Given the description of an element on the screen output the (x, y) to click on. 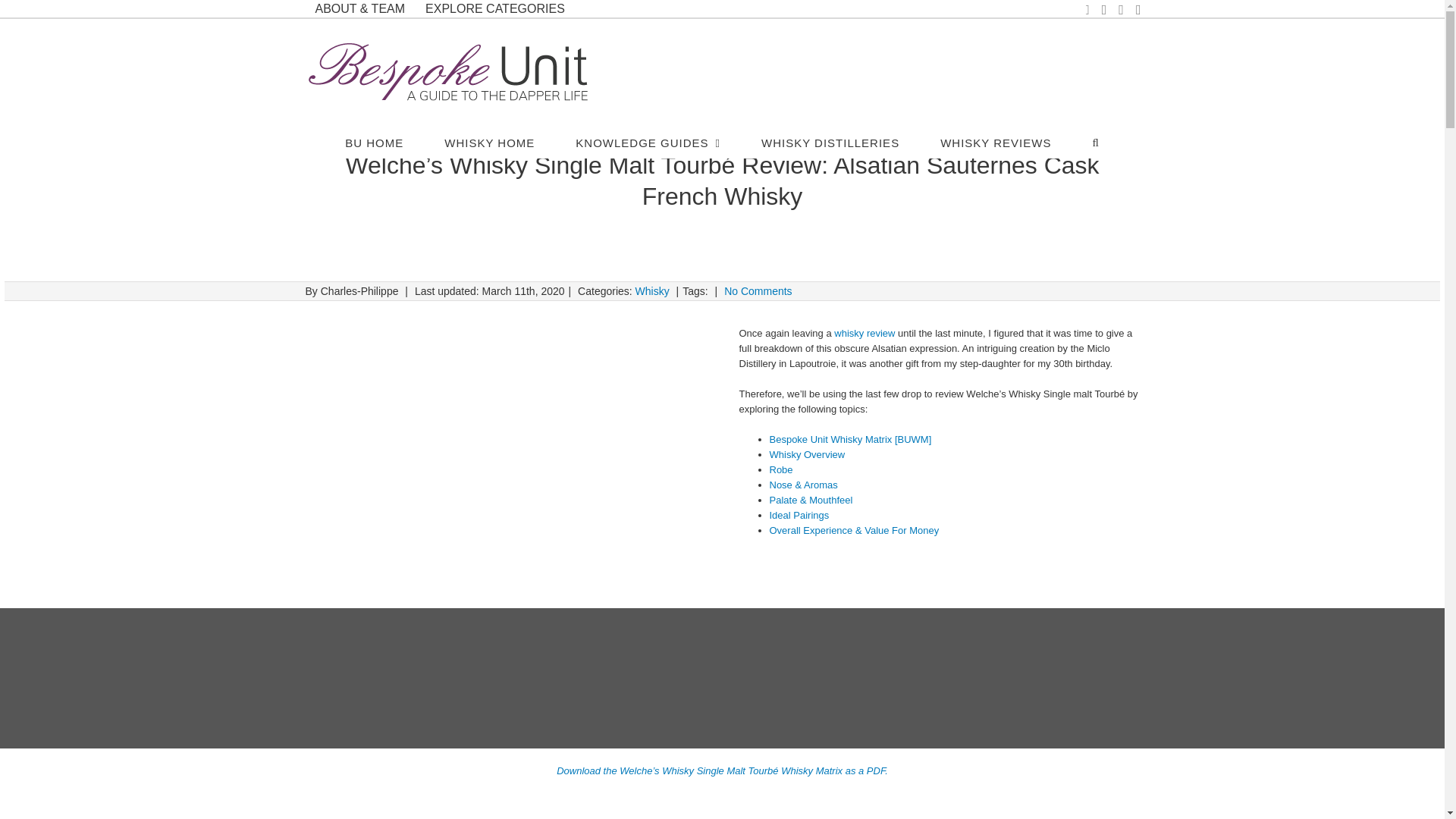
WHISKY DISTILLERIES (830, 142)
BU HOME (374, 142)
No Comments (757, 291)
whisky review (864, 333)
Ideal Pairings (798, 514)
Robe (780, 469)
EXPLORE CATEGORIES (494, 8)
Whisky (651, 291)
Whisky Overview (806, 454)
KNOWLEDGE GUIDES (647, 142)
WHISKY REVIEWS (995, 142)
WHISKY HOME (489, 142)
